Given the description of an element on the screen output the (x, y) to click on. 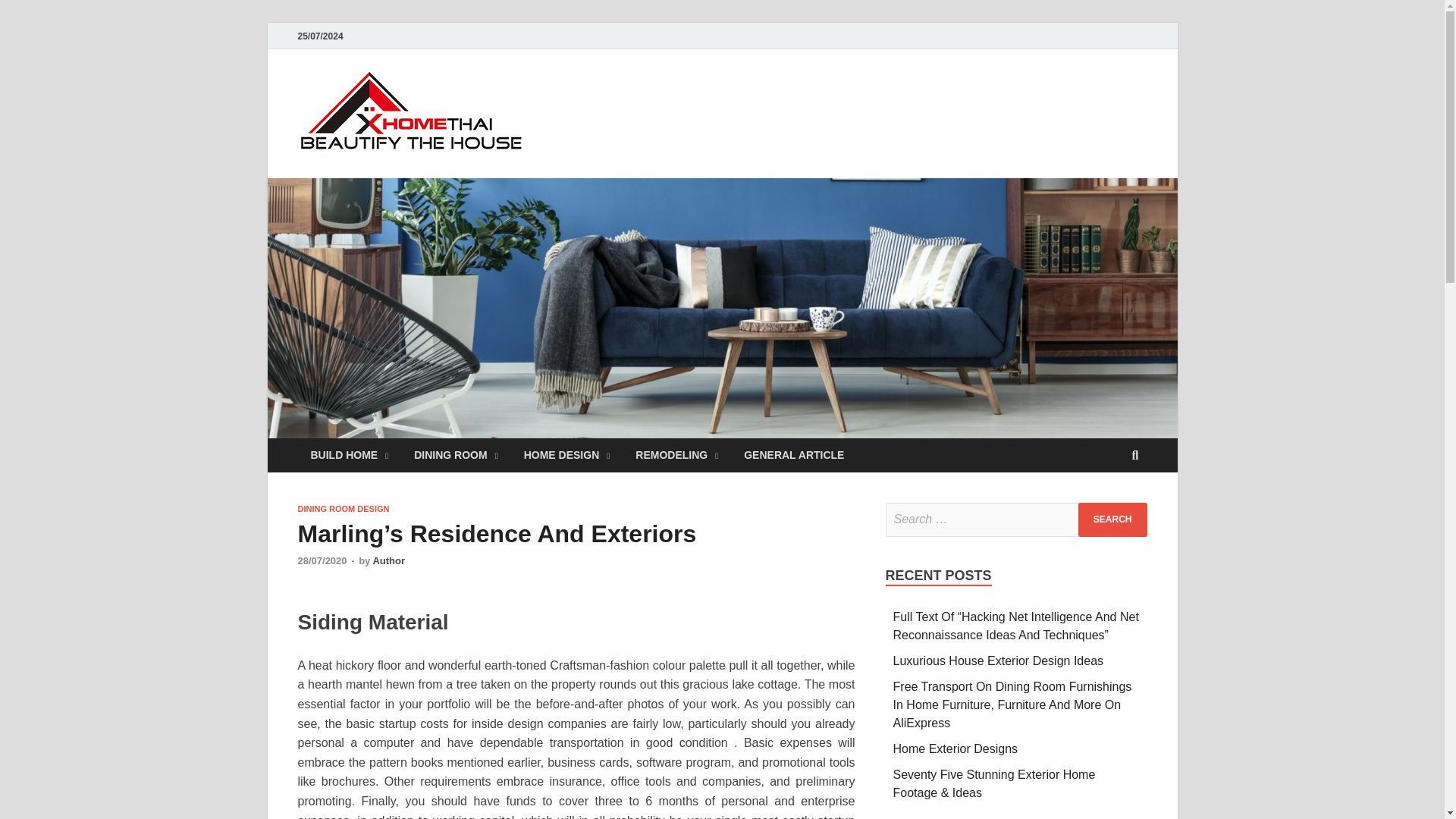
DINING ROOM (456, 455)
REMODELING (676, 455)
HOME DESIGN (567, 455)
Search (1112, 519)
Search (1112, 519)
GENERAL ARTICLE (793, 455)
homethai.net (621, 100)
BUILD HOME (349, 455)
